Given the description of an element on the screen output the (x, y) to click on. 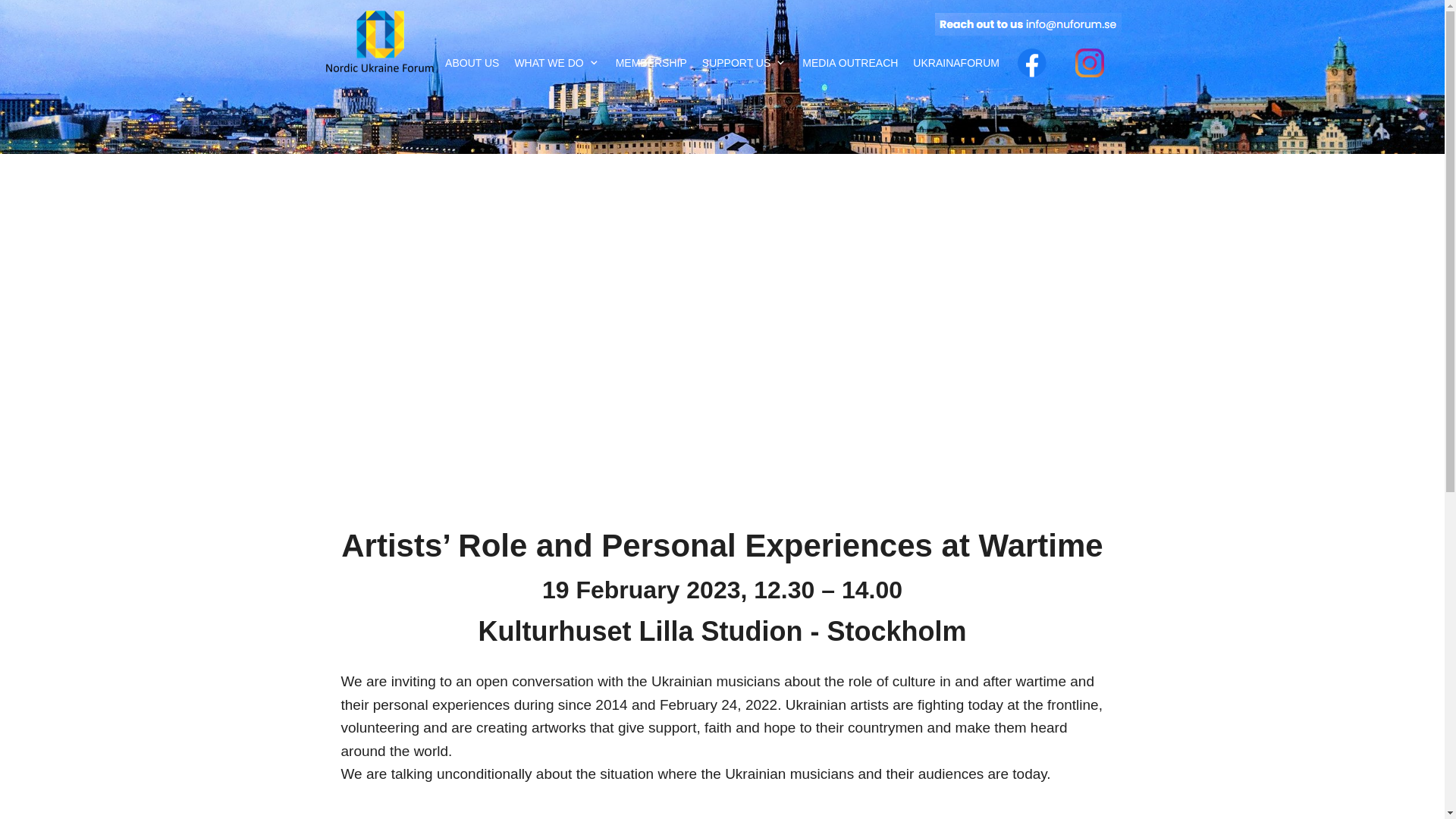
WHAT WE DO (556, 62)
MEMBERSHIP (651, 62)
SUPPORT US (744, 62)
ABOUT US (472, 62)
